Given the description of an element on the screen output the (x, y) to click on. 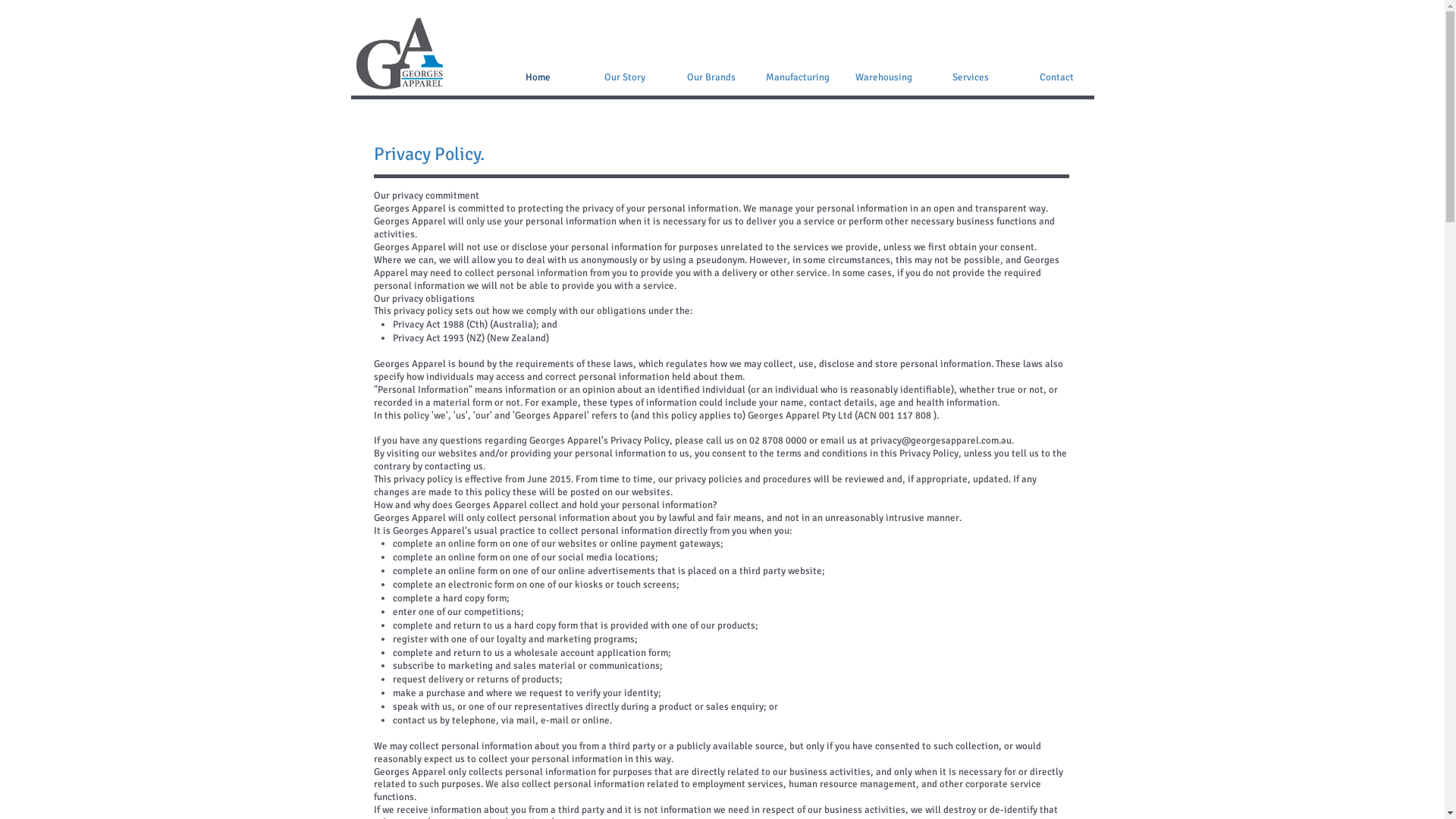
Manufacturing Element type: text (796, 77)
Home Element type: text (537, 77)
GA_LOGO2.gif Element type: hover (399, 53)
Contact Element type: text (1056, 77)
Warehousing Element type: text (883, 77)
Our Brands Element type: text (710, 77)
privacy@georgesapparel.com.au Element type: text (940, 440)
Services Element type: text (969, 77)
Our Story Element type: text (623, 77)
